Given the description of an element on the screen output the (x, y) to click on. 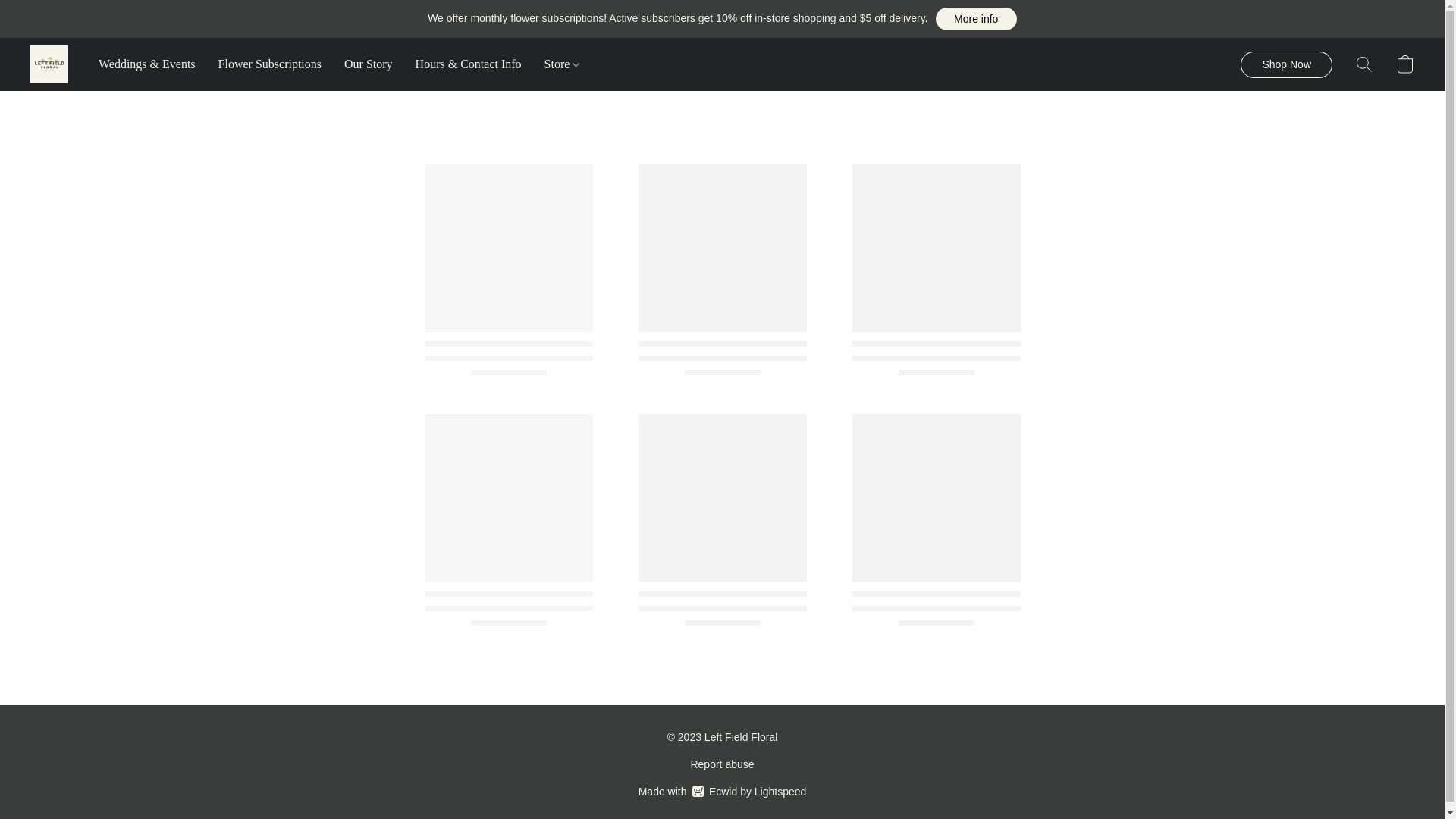
Report abuse (722, 764)
Shop Now (1286, 64)
Go to your shopping cart (1404, 64)
More info (722, 791)
Search the website (976, 18)
Our Story (1363, 64)
Flower Subscriptions (368, 63)
Store (269, 63)
